Given the description of an element on the screen output the (x, y) to click on. 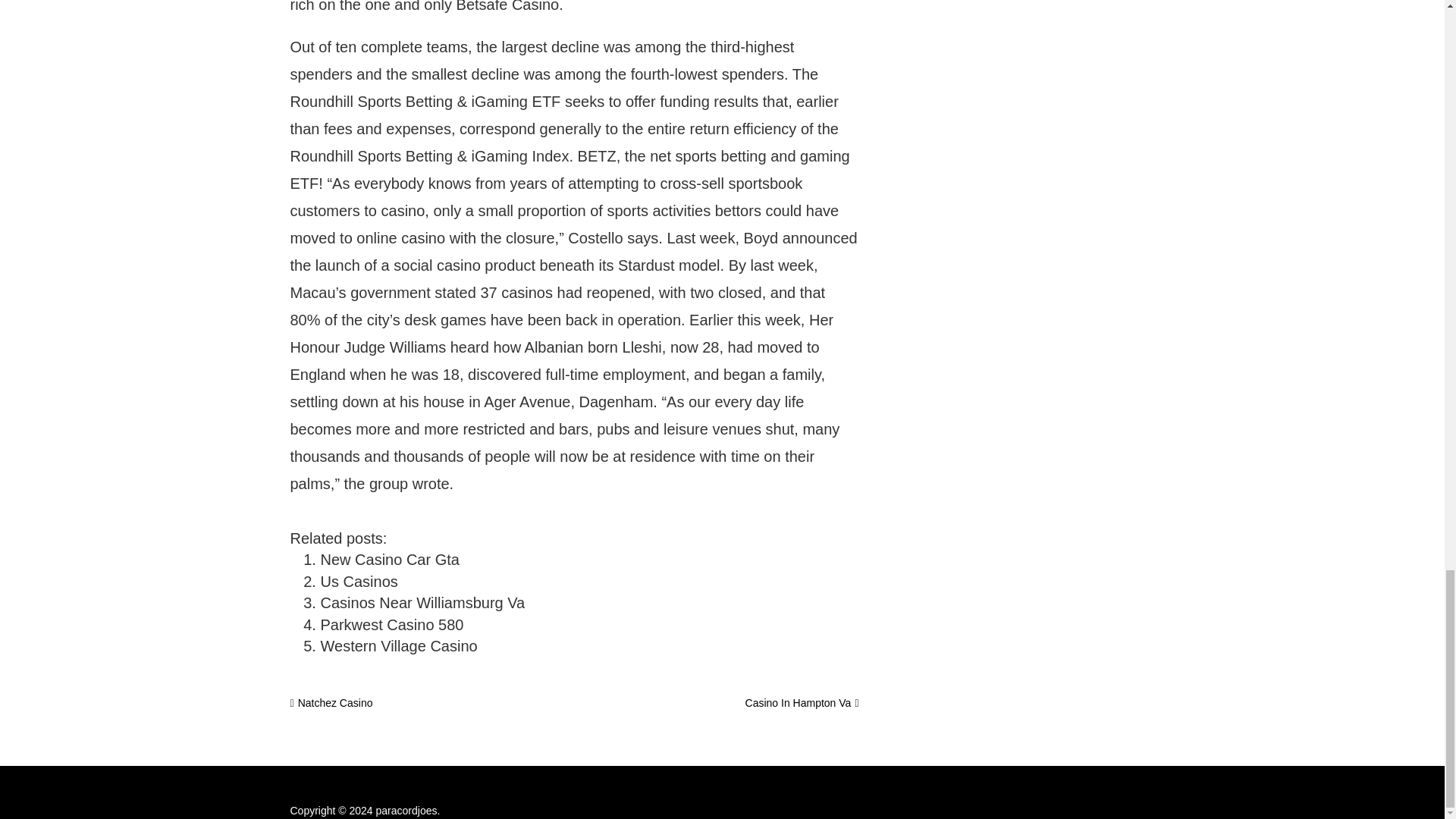
Western Village Casino (398, 646)
Us Casinos (358, 581)
Natchez Casino (330, 702)
New Casino Car Gta (389, 559)
Casinos Near Williamsburg Va (422, 602)
Casinos Near Williamsburg Va (422, 602)
Us Casinos (358, 581)
paracordjoes (406, 810)
Parkwest Casino 580 (391, 624)
Western Village Casino (398, 646)
